Given the description of an element on the screen output the (x, y) to click on. 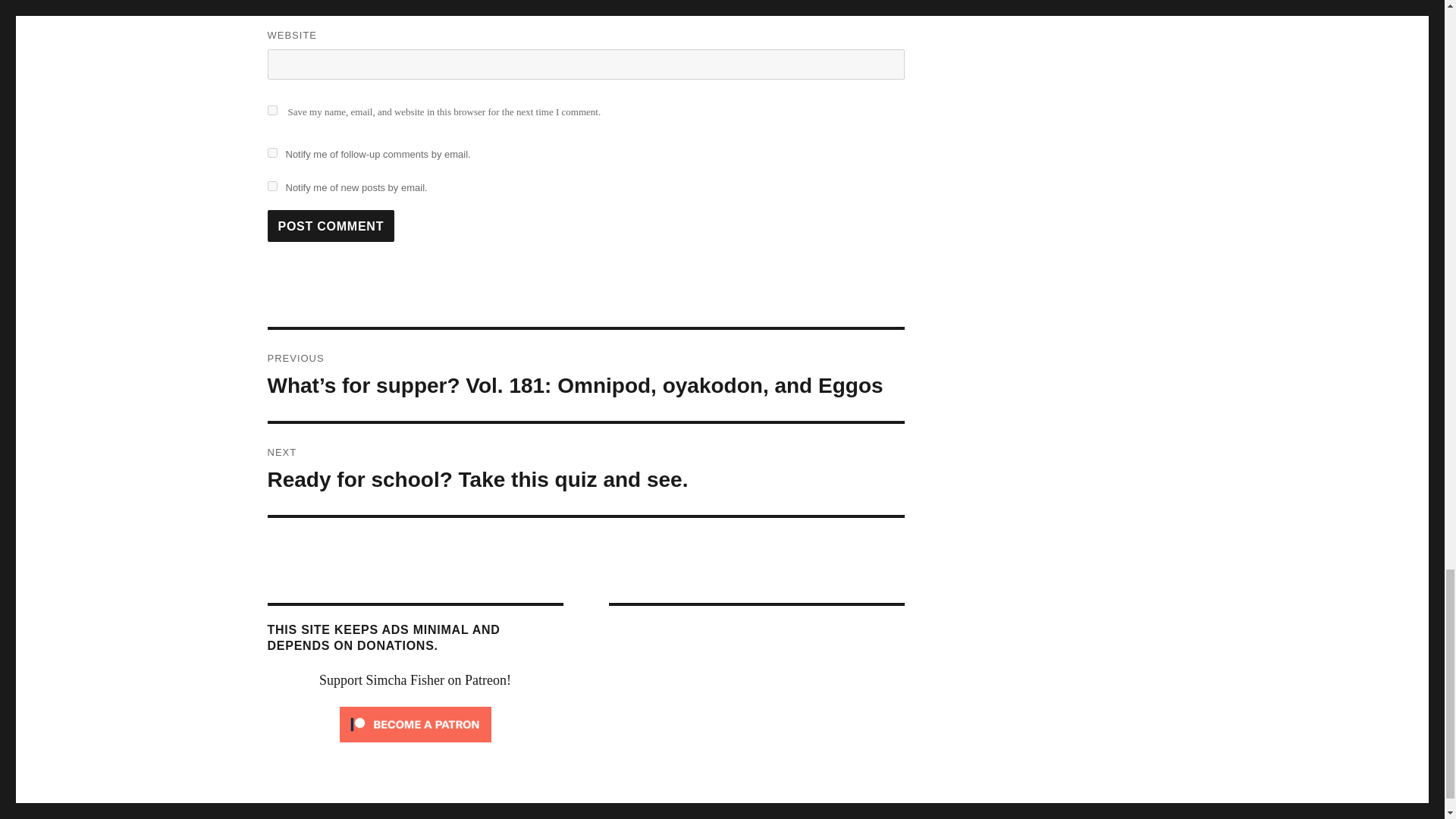
Post Comment (330, 225)
yes (271, 110)
Post Comment (585, 469)
subscribe (330, 225)
subscribe (271, 185)
